Given the description of an element on the screen output the (x, y) to click on. 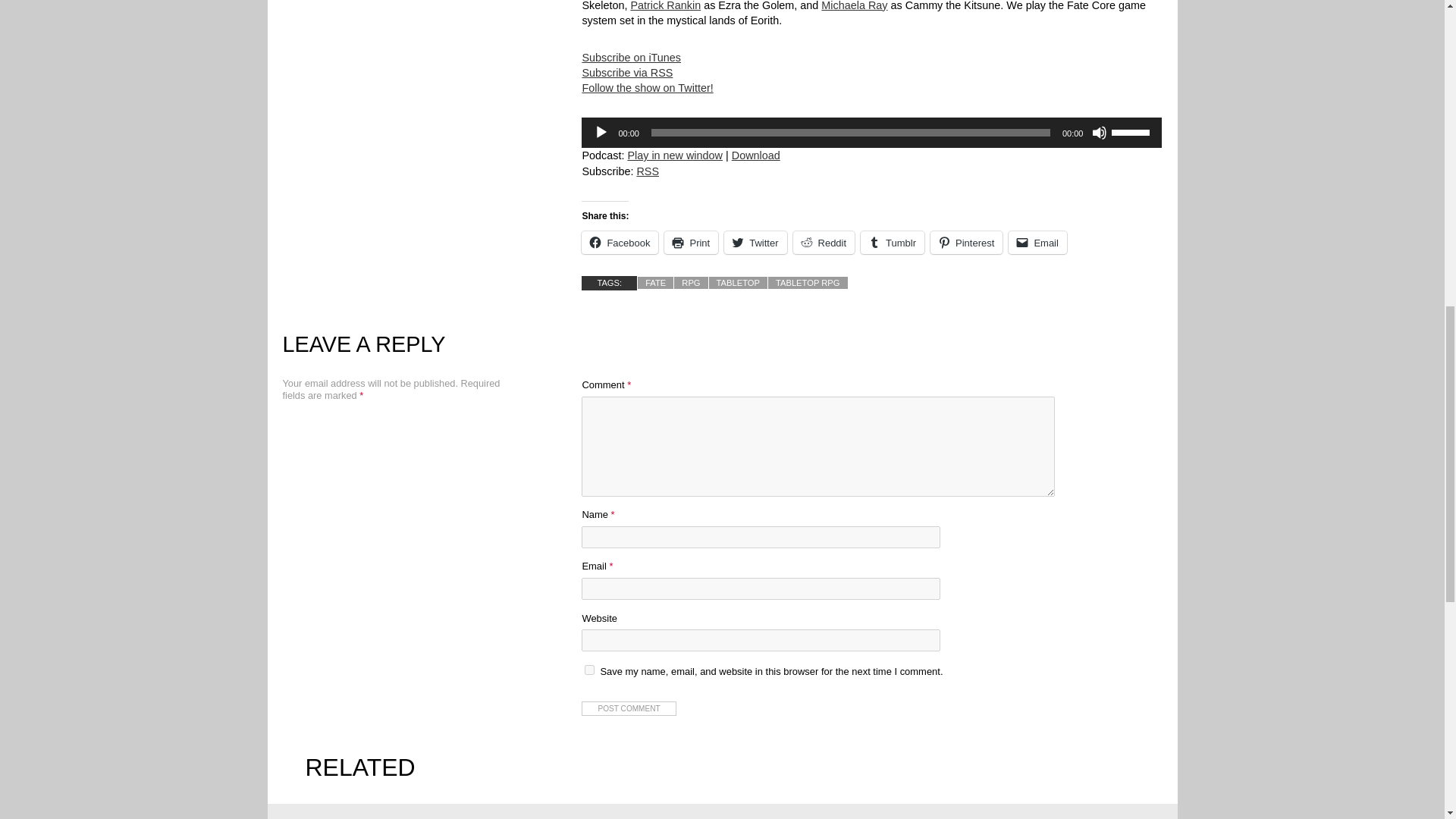
yes (589, 669)
Play in new window (674, 155)
Mute (1099, 132)
Subscribe via RSS (647, 171)
Play (601, 132)
Click to share on Pinterest (966, 241)
Click to share on Twitter (754, 241)
Click to email a link to a friend (1038, 241)
Click to print (690, 241)
Patrick Rankin (665, 5)
Click to share on Facebook (619, 241)
Click to share on Tumblr (892, 241)
Post Comment (627, 708)
Download (756, 155)
Click to share on Reddit (824, 241)
